Given the description of an element on the screen output the (x, y) to click on. 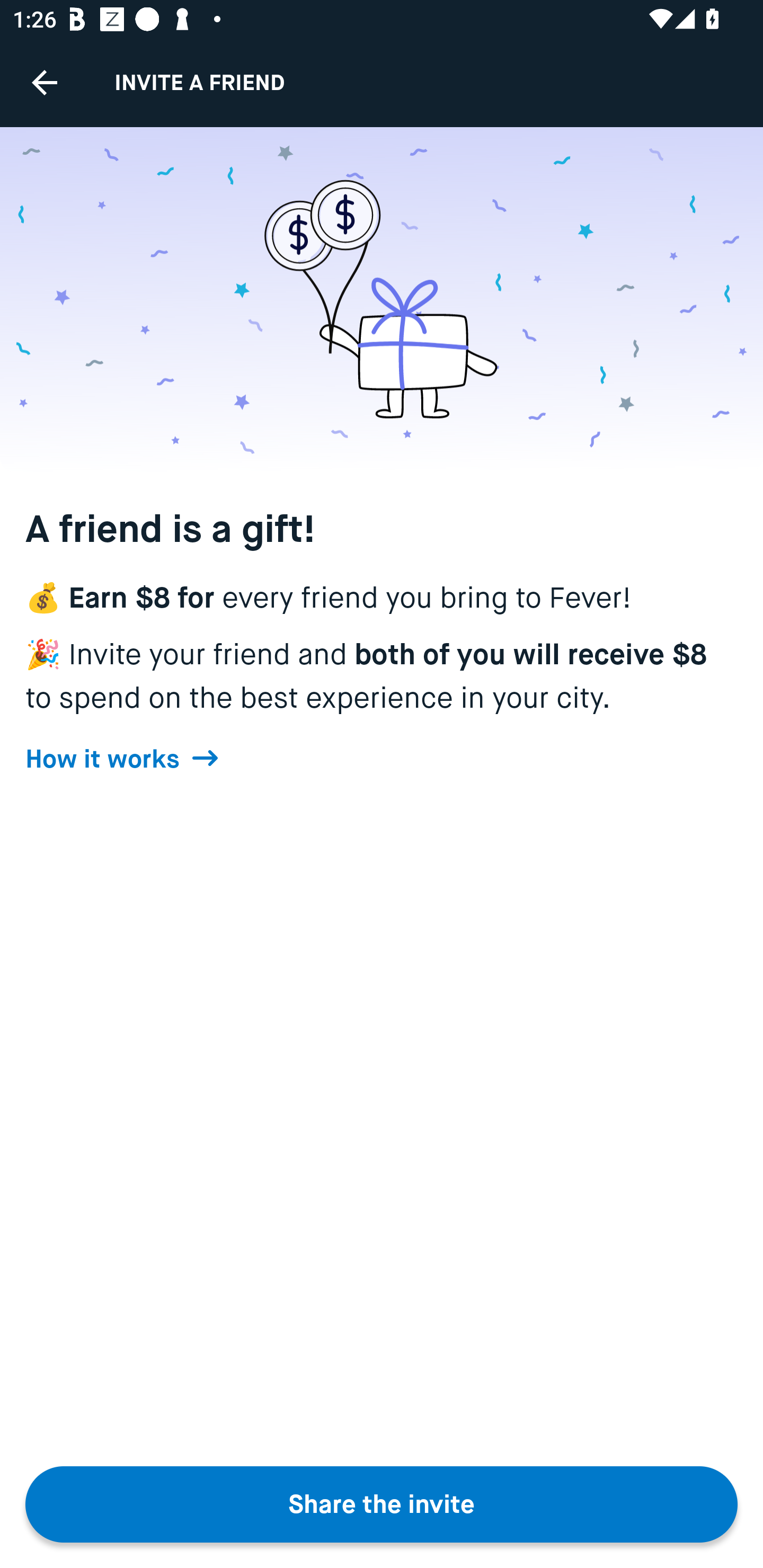
Navigate up (44, 82)
How it works (121, 758)
Share the invite (381, 1504)
